Given the description of an element on the screen output the (x, y) to click on. 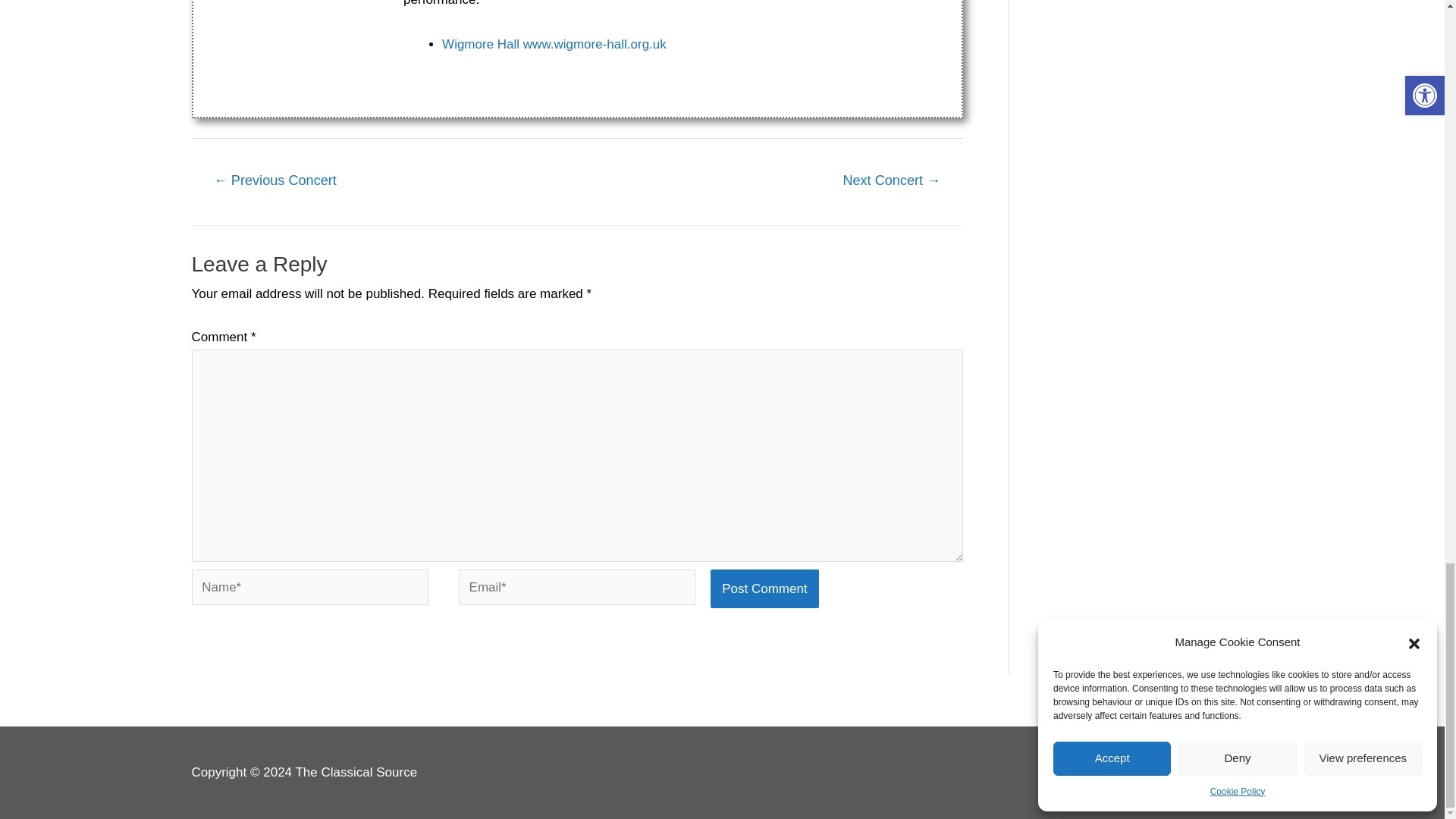
Post Comment (764, 589)
